Given the description of an element on the screen output the (x, y) to click on. 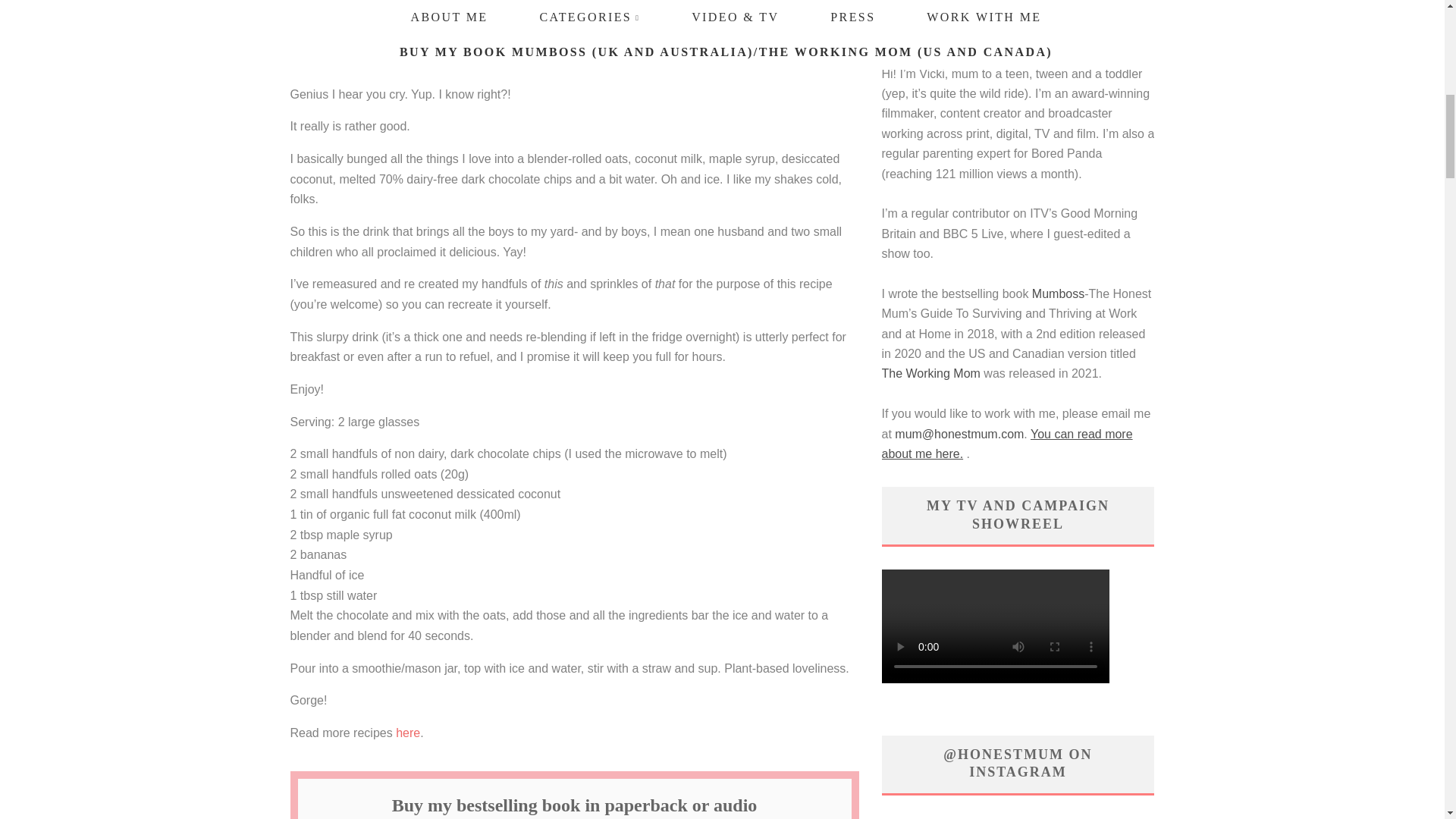
here (408, 732)
